Given the description of an element on the screen output the (x, y) to click on. 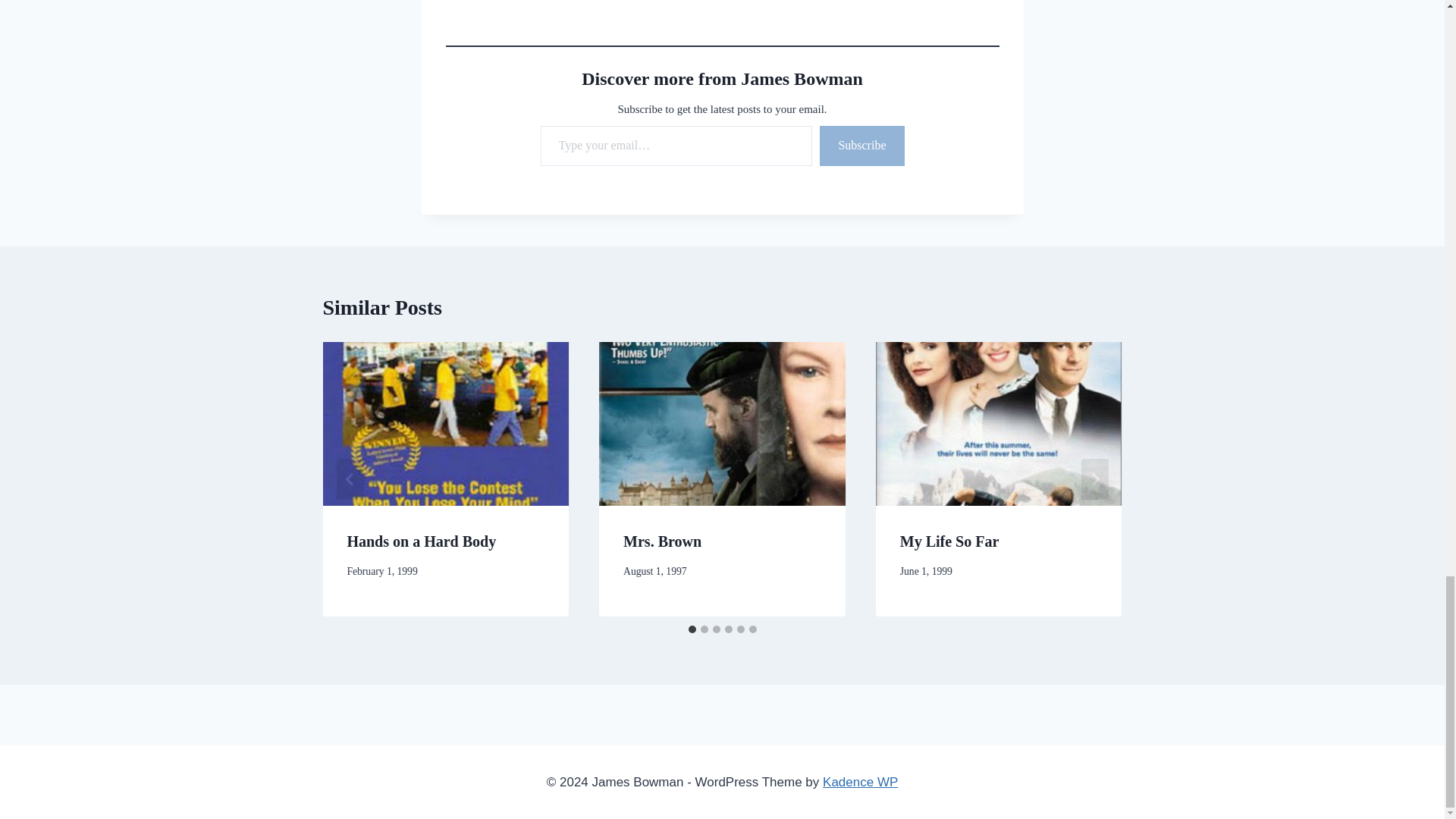
Subscribe (861, 146)
Please fill in this field. (676, 146)
